Given the description of an element on the screen output the (x, y) to click on. 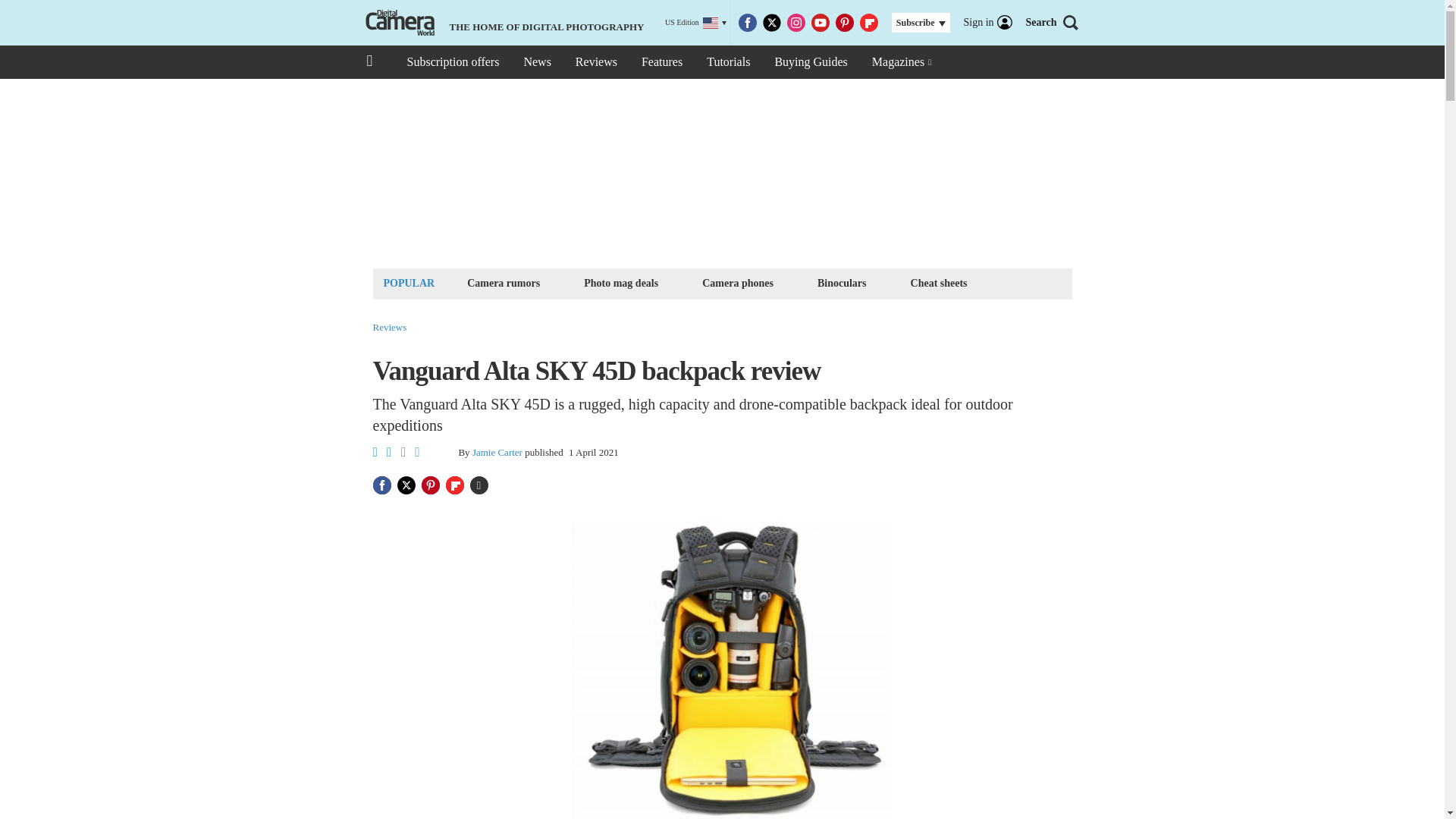
Camera rumors (502, 282)
Binoculars (842, 282)
THE HOME OF DIGITAL PHOTOGRAPHY (503, 22)
Reviews (595, 61)
Subscription offers (452, 61)
Photo mag deals (620, 282)
Tutorials (727, 61)
News (536, 61)
Reviews (389, 327)
US Edition (695, 22)
